Given the description of an element on the screen output the (x, y) to click on. 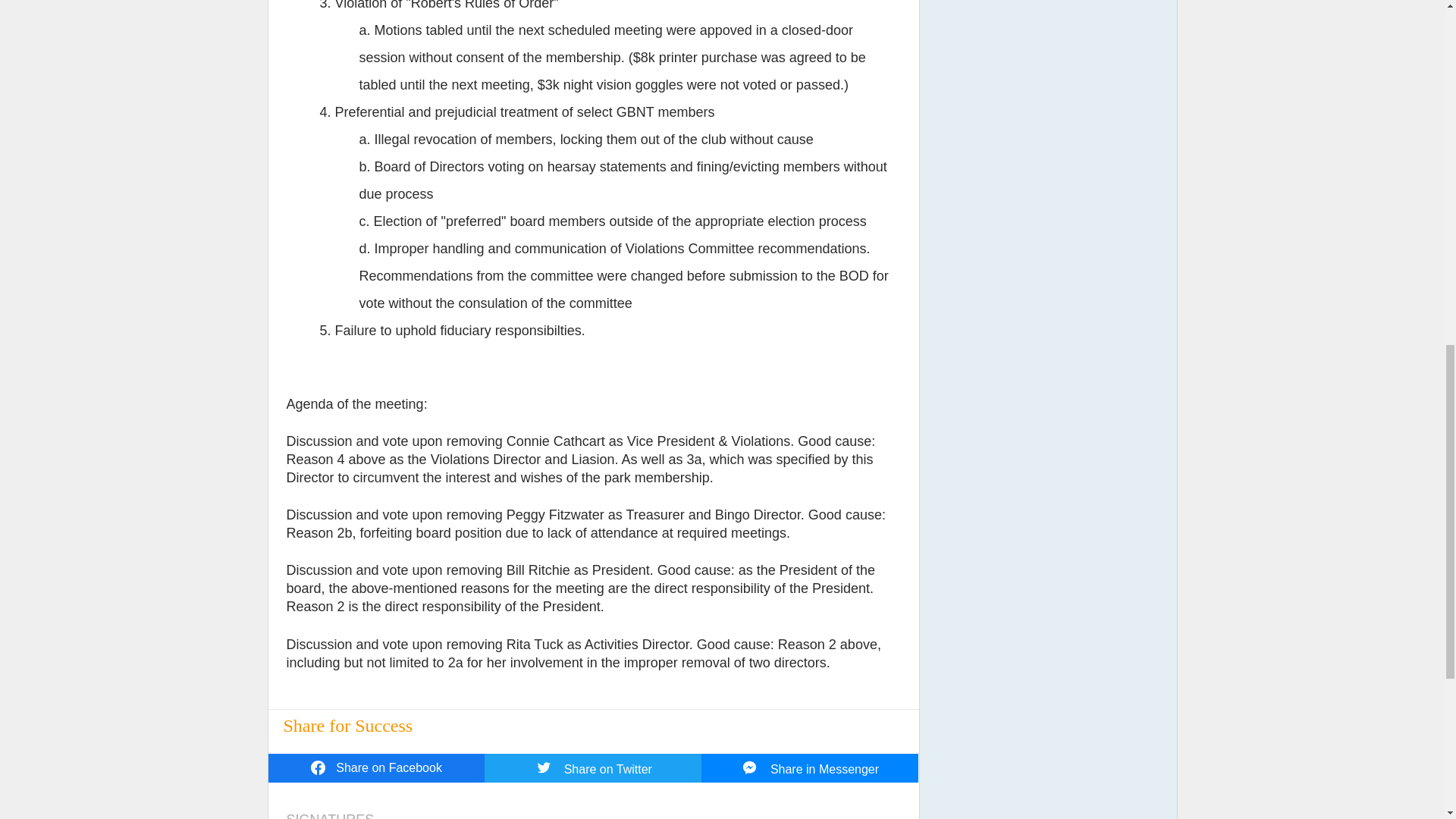
Share on Facebook (375, 767)
Share in Messenger (809, 767)
Share on Twitter (592, 767)
